Given the description of an element on the screen output the (x, y) to click on. 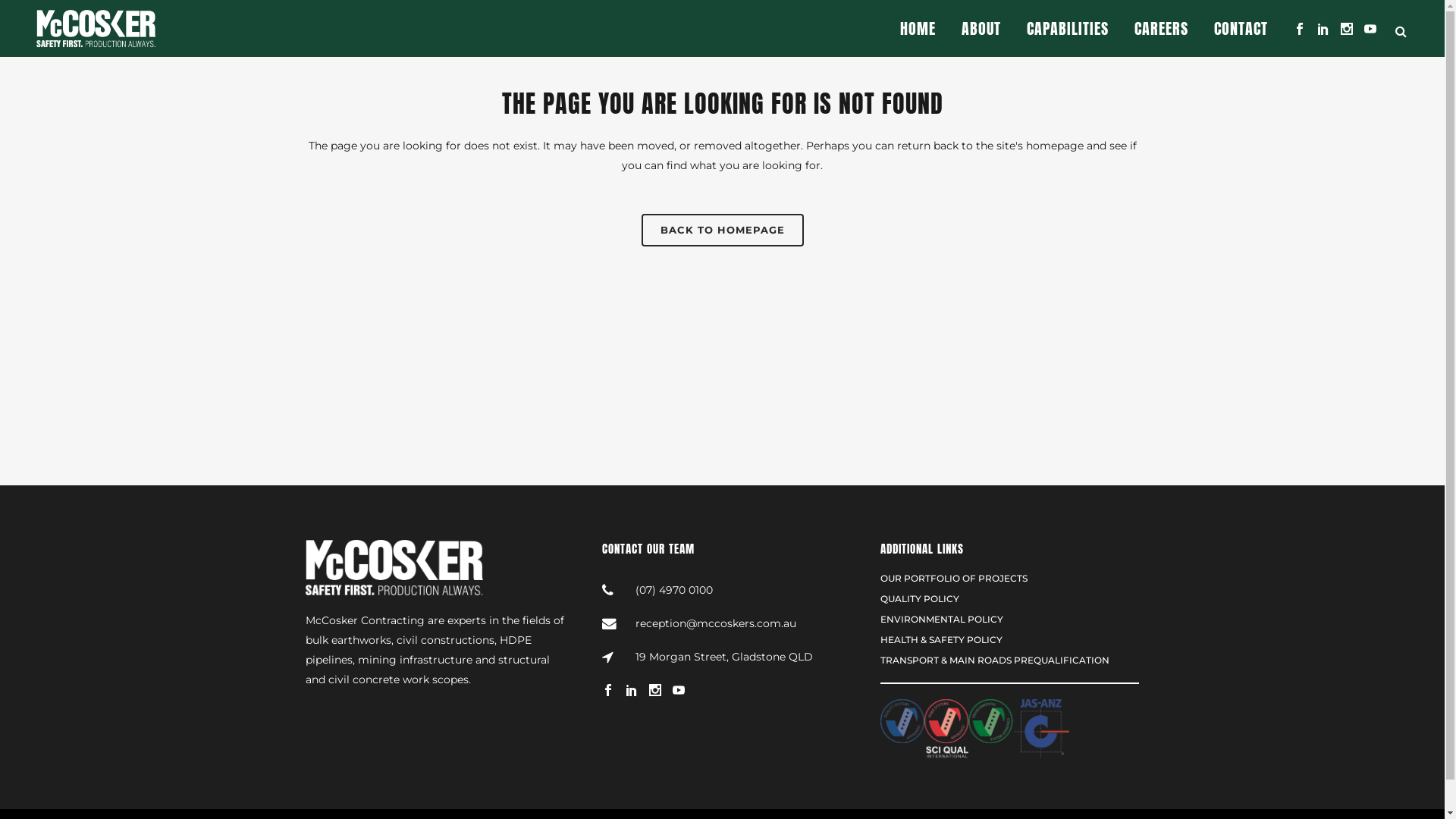
CAPABILITIES Element type: text (1067, 28)
ABOUT Element type: text (980, 28)
CAREERS Element type: text (1161, 28)
CONTACT Element type: text (1240, 28)
TRANSPORT & MAIN ROADS PREQUALIFICATION Element type: text (1009, 660)
OUR PORTFOLIO OF PROJECTS Element type: text (1009, 578)
ENVIRONMENTAL POLICY Element type: text (1009, 619)
HOME Element type: text (917, 28)
HEALTH & SAFETY POLICY Element type: text (1009, 639)
BACK TO HOMEPAGE Element type: text (722, 229)
QUALITY POLICY Element type: text (1009, 598)
